Given the description of an element on the screen output the (x, y) to click on. 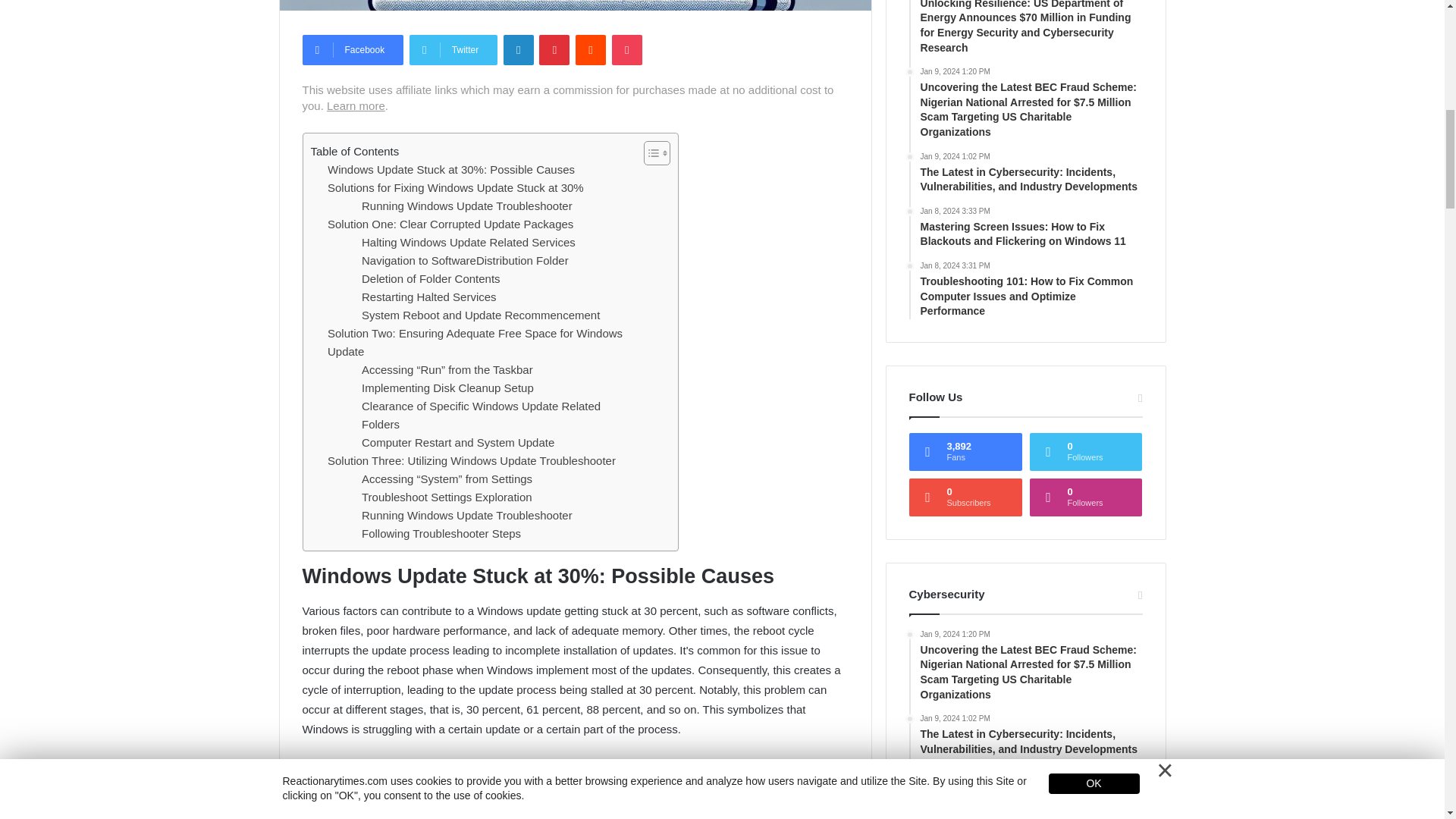
Twitter (453, 50)
Pocket (626, 50)
Running Windows Update Troubleshooter (466, 206)
Reddit (590, 50)
Pocket (626, 50)
Solution One: Clear Corrupted Update Packages (450, 224)
Solution One: Clear Corrupted Update Packages (450, 224)
Learn more (355, 105)
Restarting Halted Services (428, 297)
Navigation to SoftwareDistribution Folder (465, 260)
Pinterest (553, 50)
Halting Windows Update Related Services (468, 242)
LinkedIn (518, 50)
Deletion of Folder Contents (430, 279)
